Given the description of an element on the screen output the (x, y) to click on. 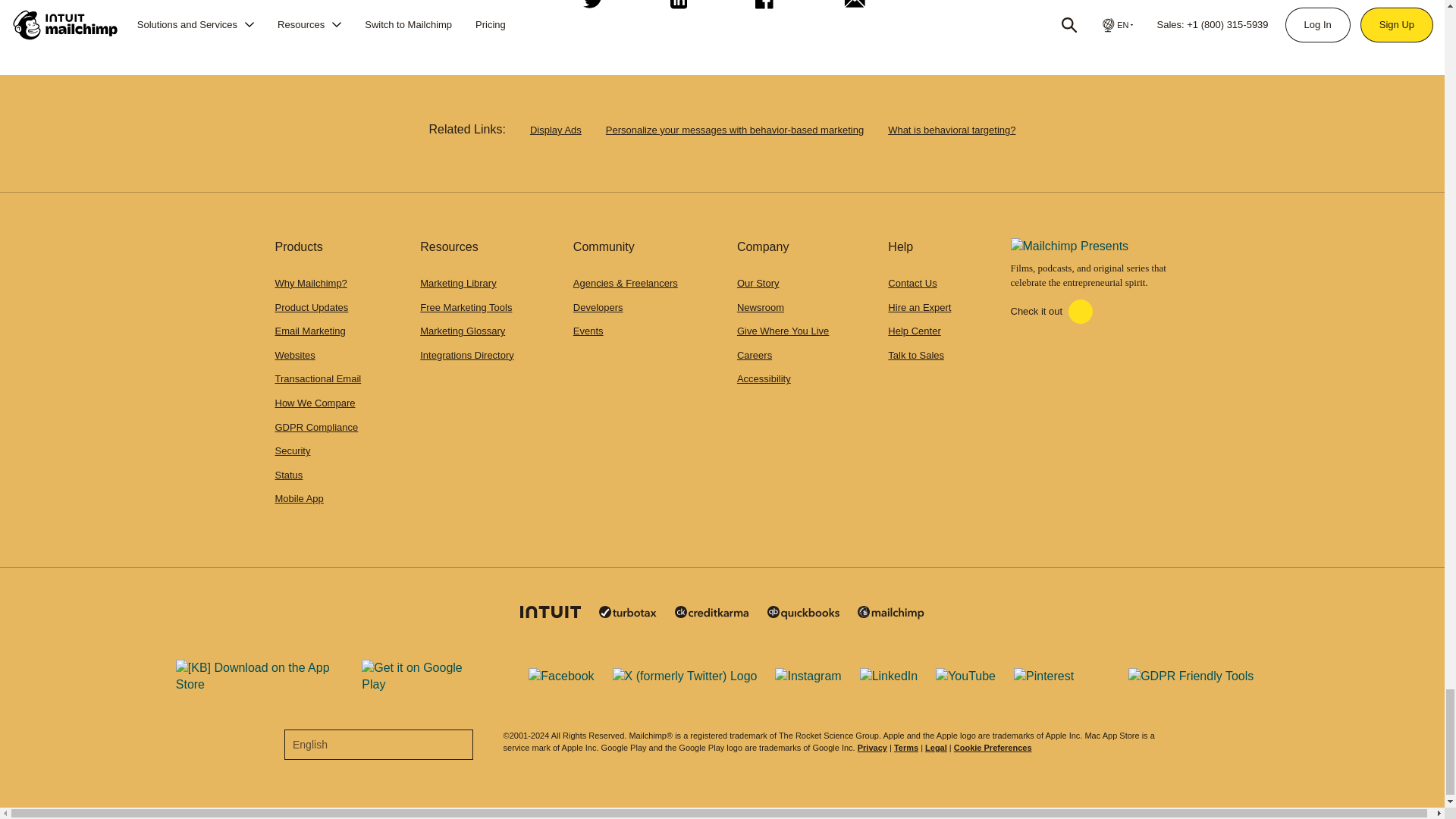
Share this article on Linkedin (676, 10)
Share this article on Facebook (762, 10)
Share this article on Twitter (590, 10)
